Given the description of an element on the screen output the (x, y) to click on. 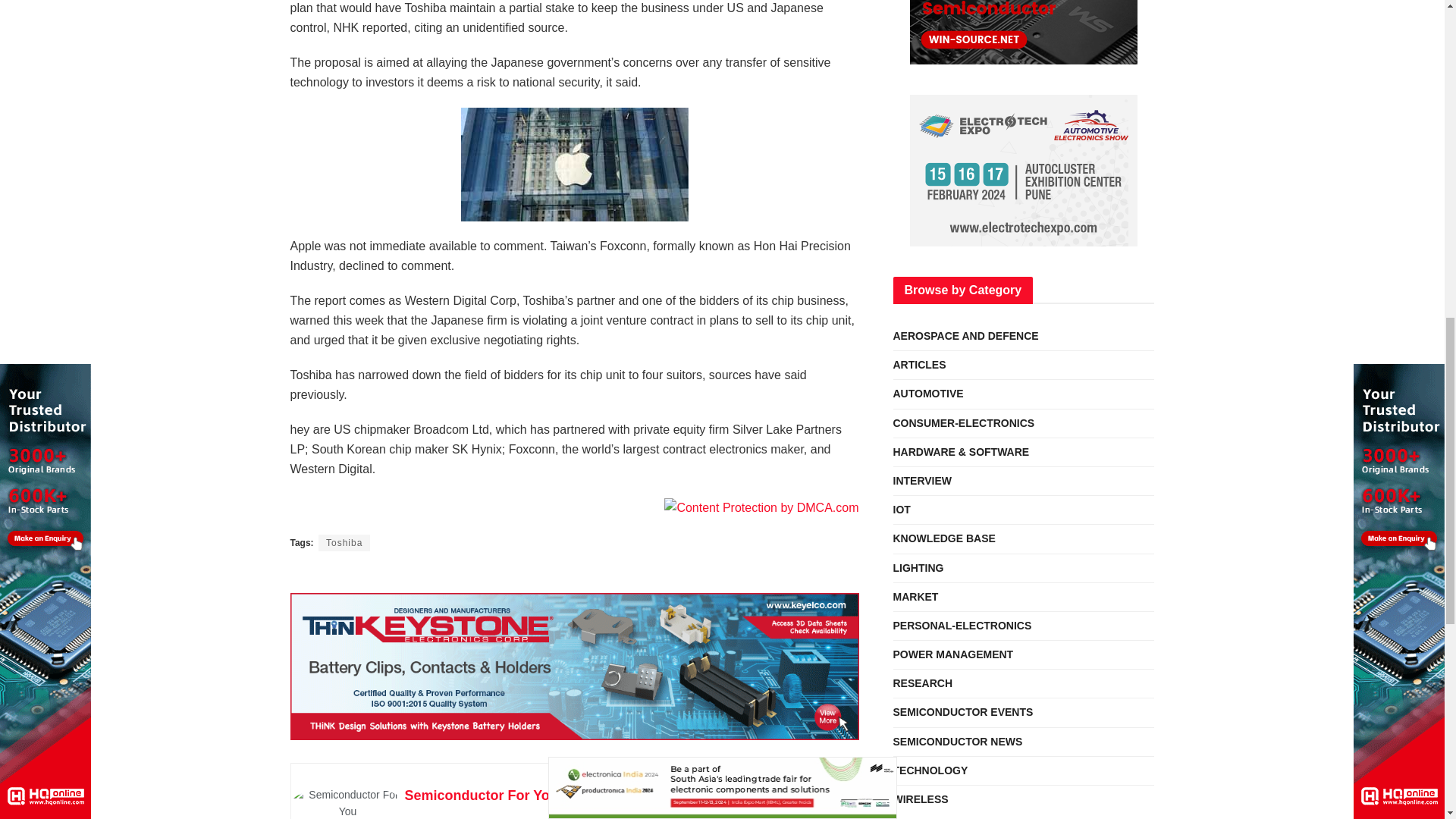
Content Protection by DMCA.com (761, 507)
